Given the description of an element on the screen output the (x, y) to click on. 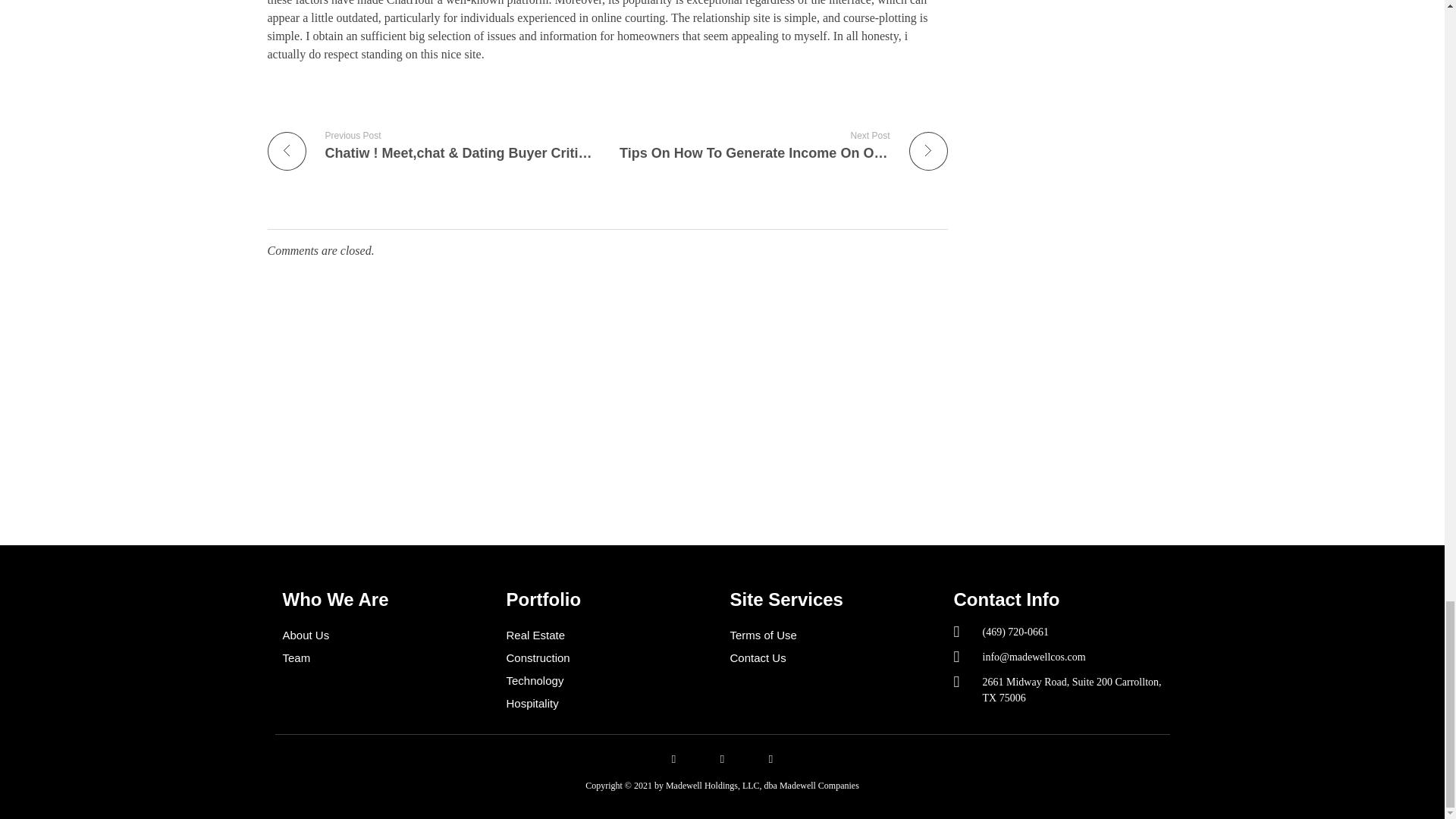
About Us (386, 635)
Contact Us (833, 658)
Technology (610, 680)
Hospitality (610, 703)
Team (386, 658)
Real Estate (610, 635)
Construction (610, 658)
Terms of Use (833, 635)
